Given the description of an element on the screen output the (x, y) to click on. 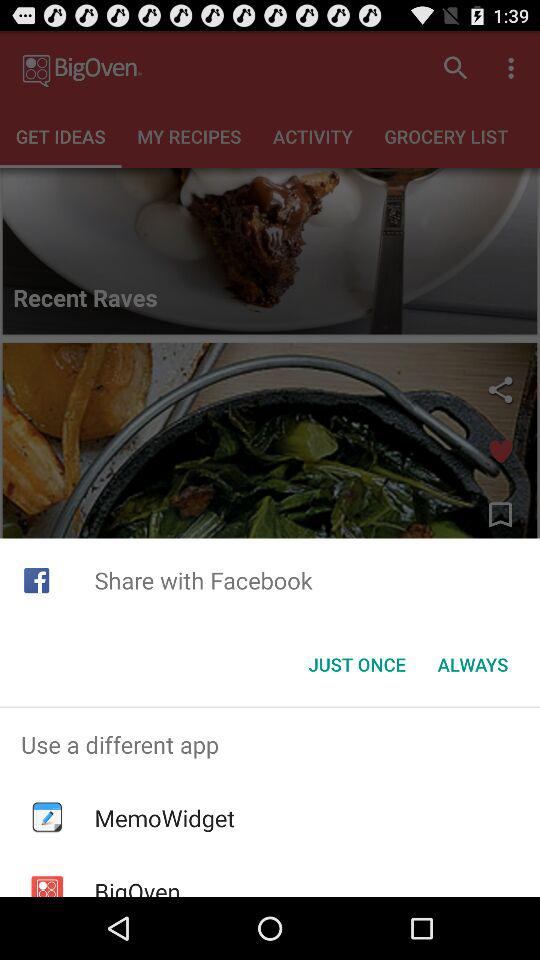
open bigoven (137, 885)
